Given the description of an element on the screen output the (x, y) to click on. 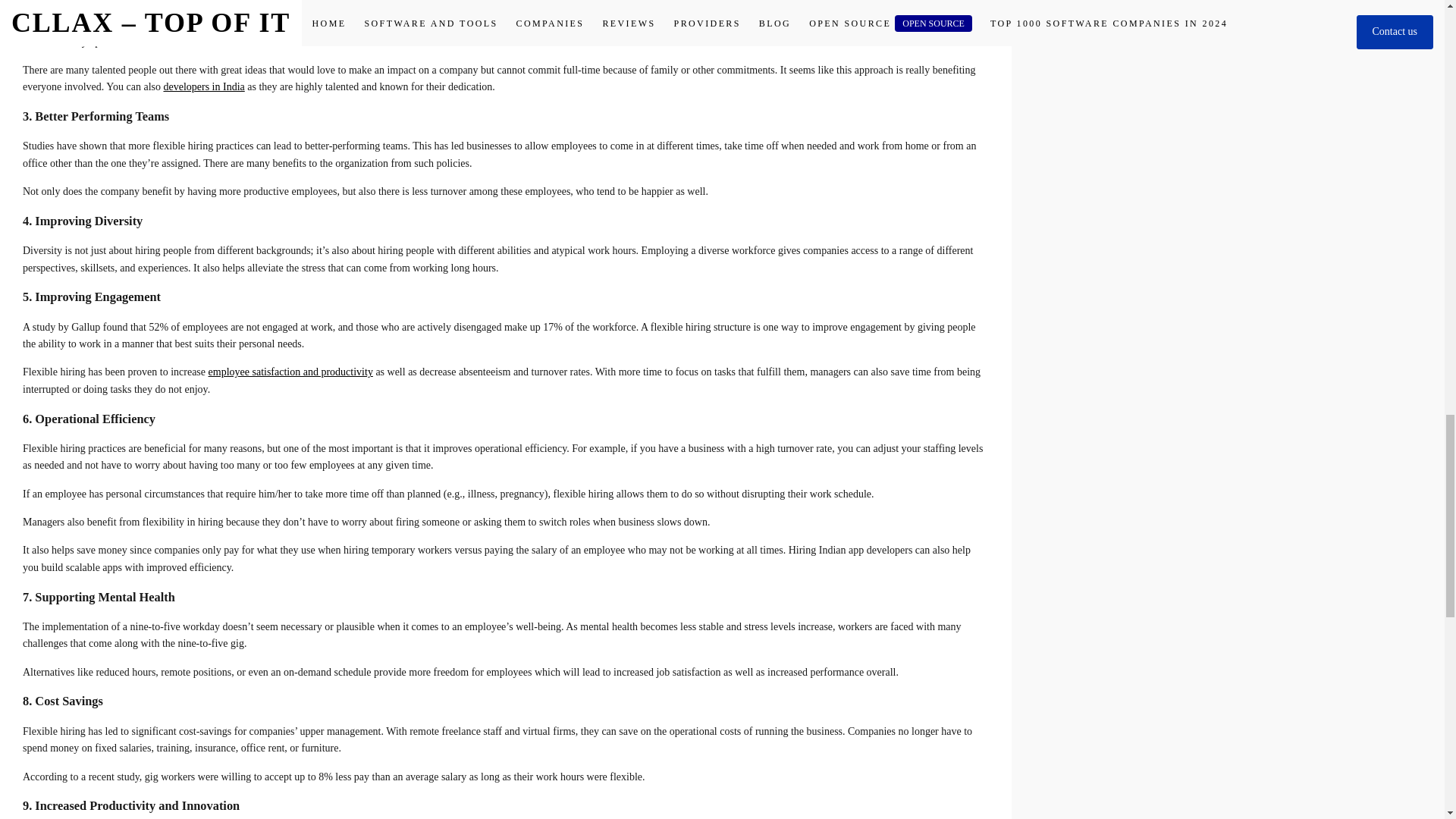
developers in India (203, 86)
employee satisfaction and productivity (290, 371)
